Given the description of an element on the screen output the (x, y) to click on. 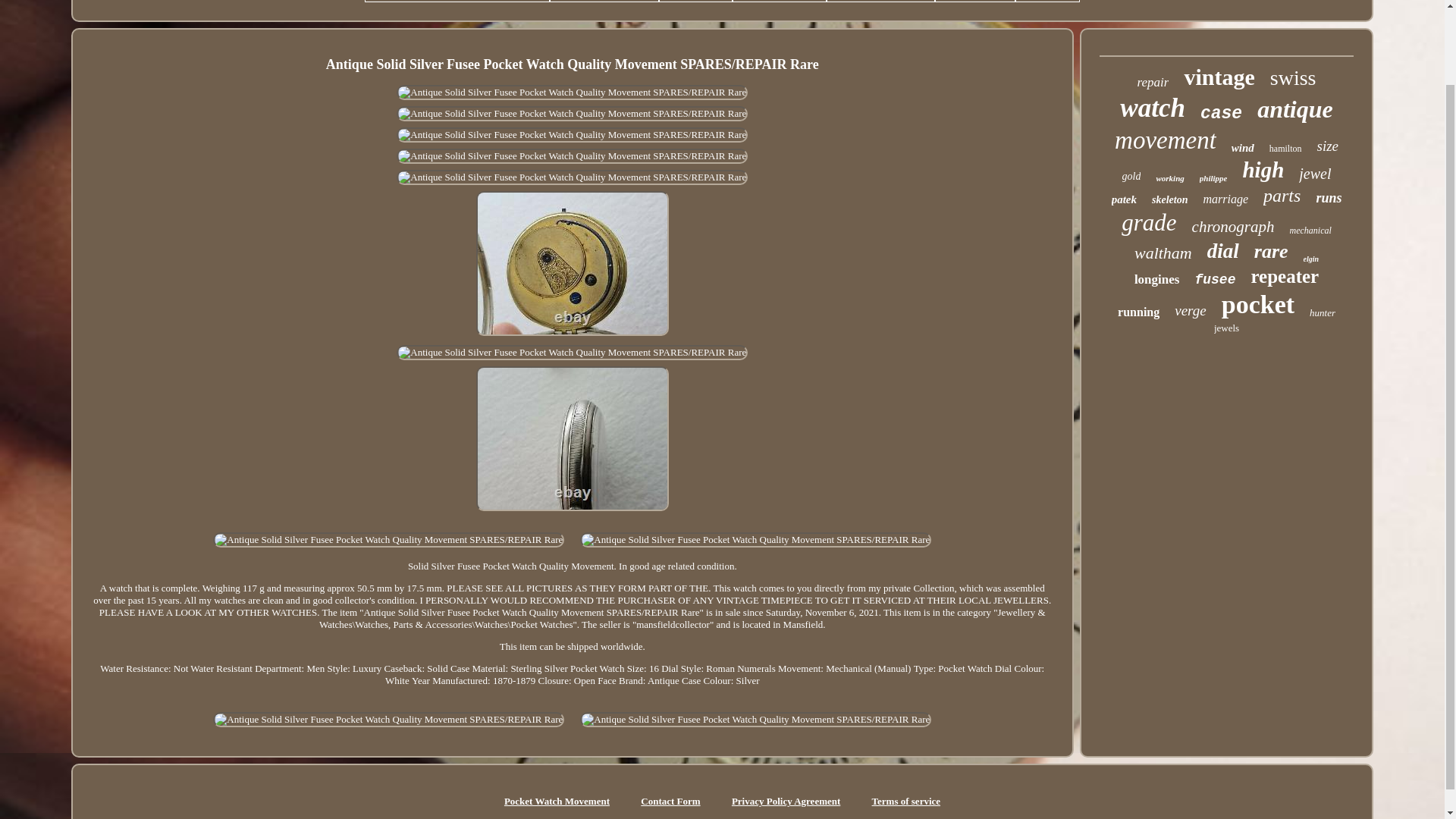
CASEBACK (779, 0)
BRAND (695, 0)
